Given the description of an element on the screen output the (x, y) to click on. 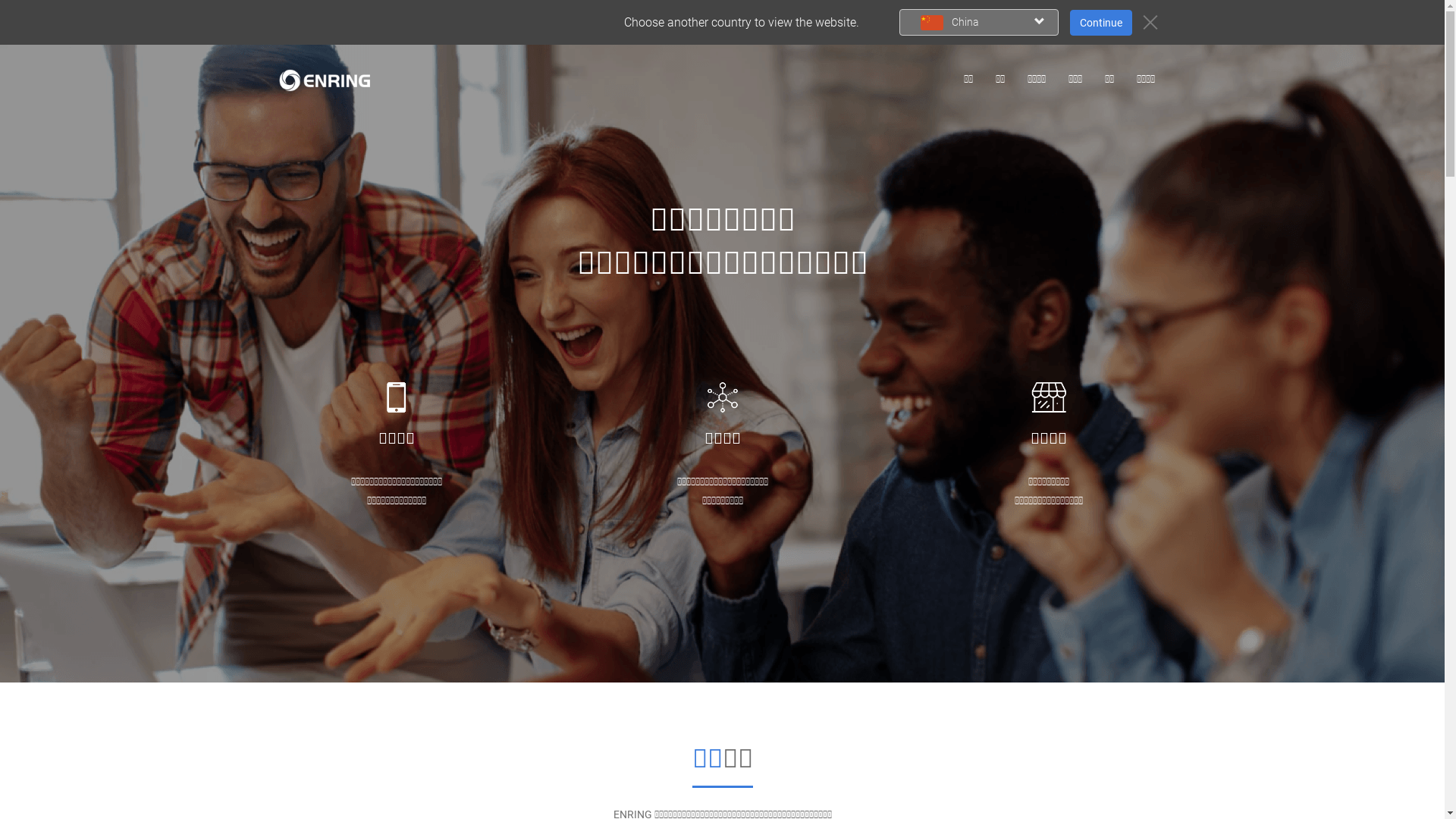
Continue Element type: text (1100, 22)
China Element type: text (978, 22)
